Given the description of an element on the screen output the (x, y) to click on. 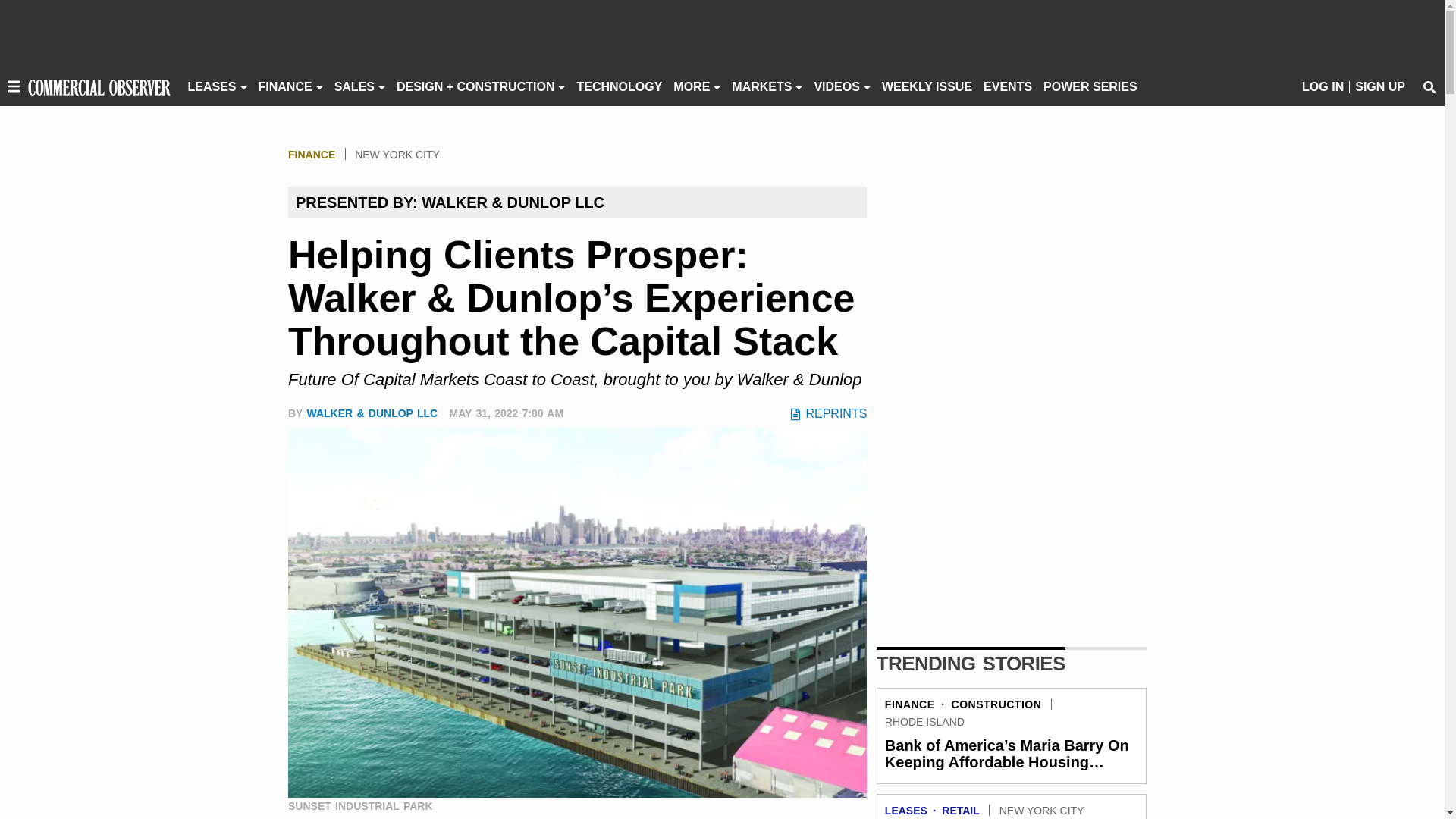
MORE (691, 86)
LEASES (211, 86)
TECHNOLOGY (619, 86)
Commercial Observer Home (98, 86)
SALES (354, 86)
FINANCE (286, 86)
